Given the description of an element on the screen output the (x, y) to click on. 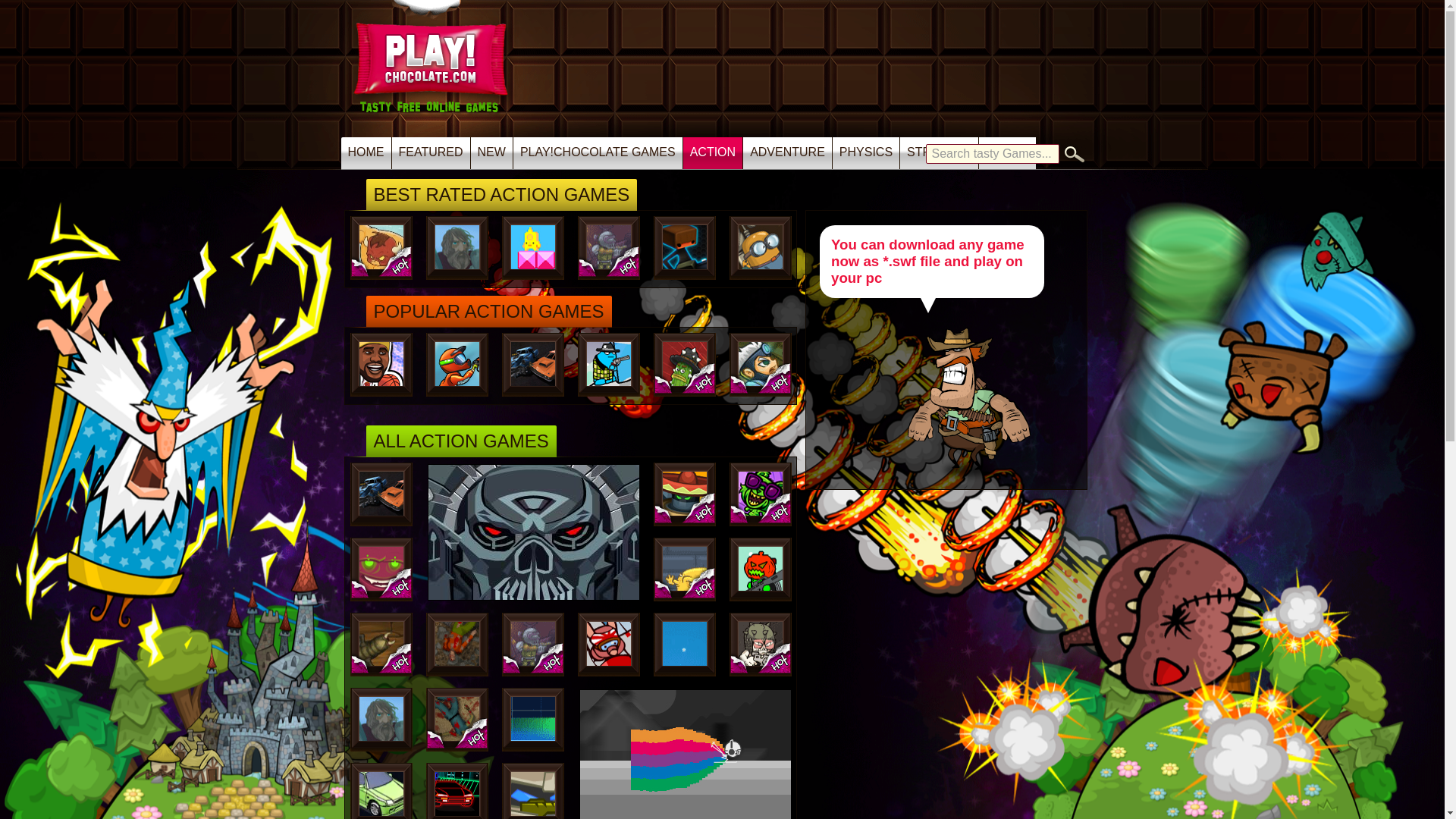
ACTION (712, 153)
NEW (491, 153)
Search tasty Games... (991, 153)
STRATEGY (938, 153)
OTHER (1006, 153)
Play!chocolate.com (432, 84)
FEATURED (430, 153)
PHYSICS (865, 153)
HOME (365, 153)
PLAY!CHOCOLATE GAMES (597, 153)
Search tasty Games... (991, 153)
ADVENTURE (787, 153)
